Given the description of an element on the screen output the (x, y) to click on. 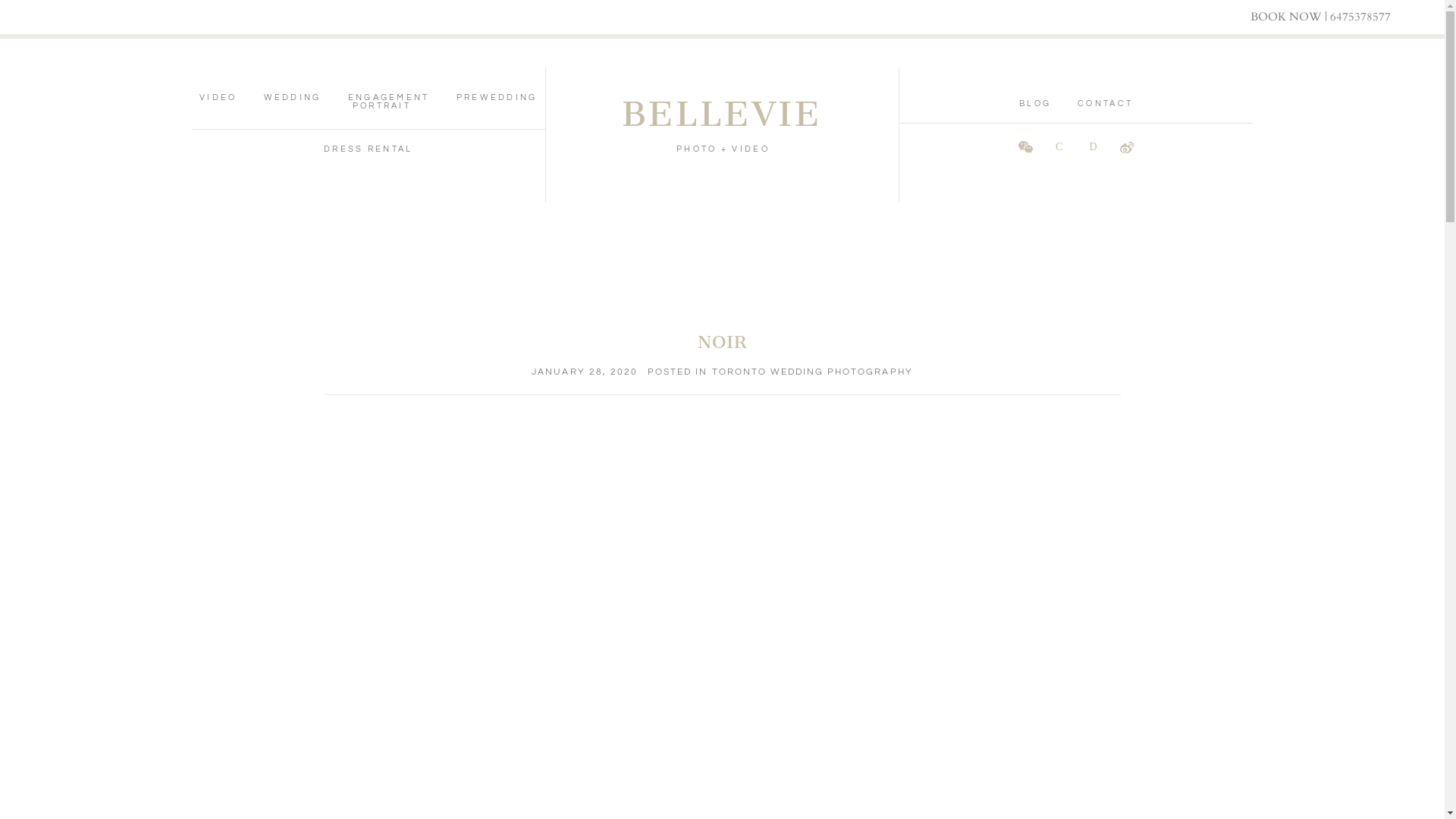
C Element type: text (1058, 146)
ENGAGEMENT Element type: text (388, 97)
TORONTO WEDDING PHOTOGRAPHY Element type: text (812, 371)
PHOTO + VIDEO
BELLEVIE Element type: text (721, 127)
D Element type: text (1093, 146)
DRESS RENTAL Element type: text (368, 148)
CONTACT Element type: text (1104, 103)
BLOG Element type: text (1035, 103)
